Given the description of an element on the screen output the (x, y) to click on. 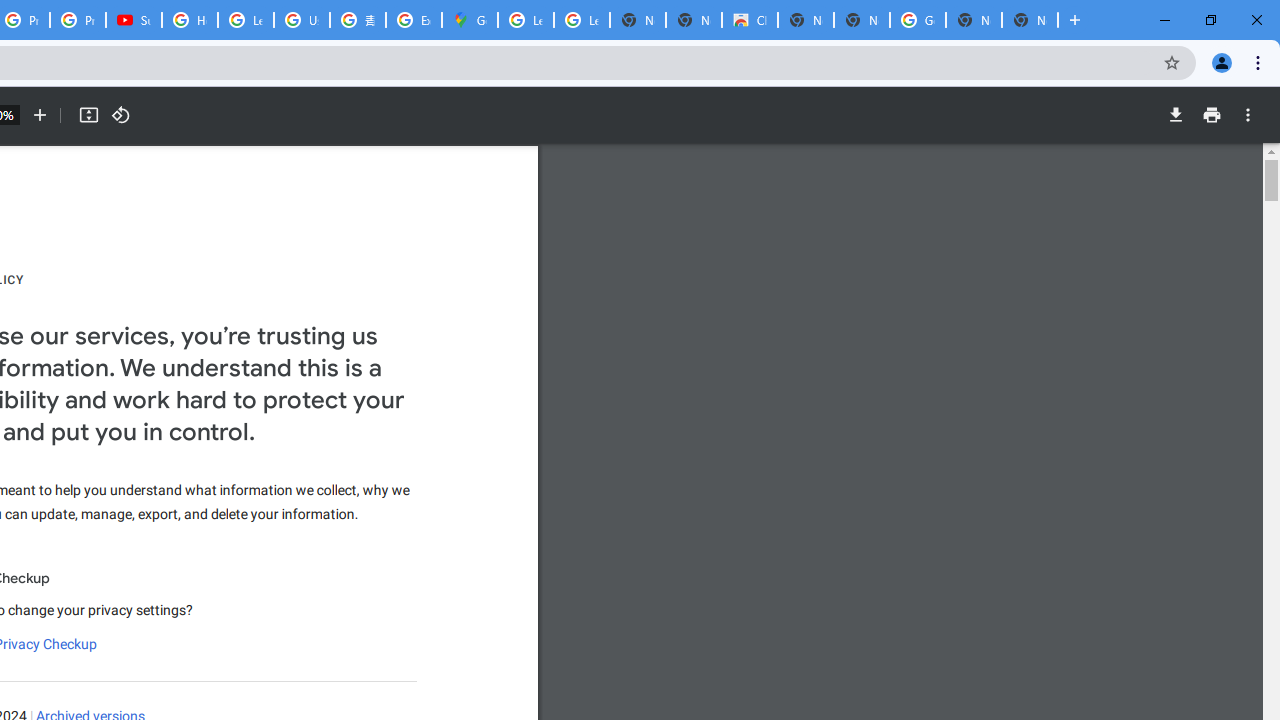
Explore new street-level details - Google Maps Help (413, 20)
Subscriptions - YouTube (134, 20)
Download (1175, 115)
Print (1211, 115)
More actions (1247, 115)
Google Images (917, 20)
Chrome Web Store (749, 20)
Google Maps (469, 20)
